Given the description of an element on the screen output the (x, y) to click on. 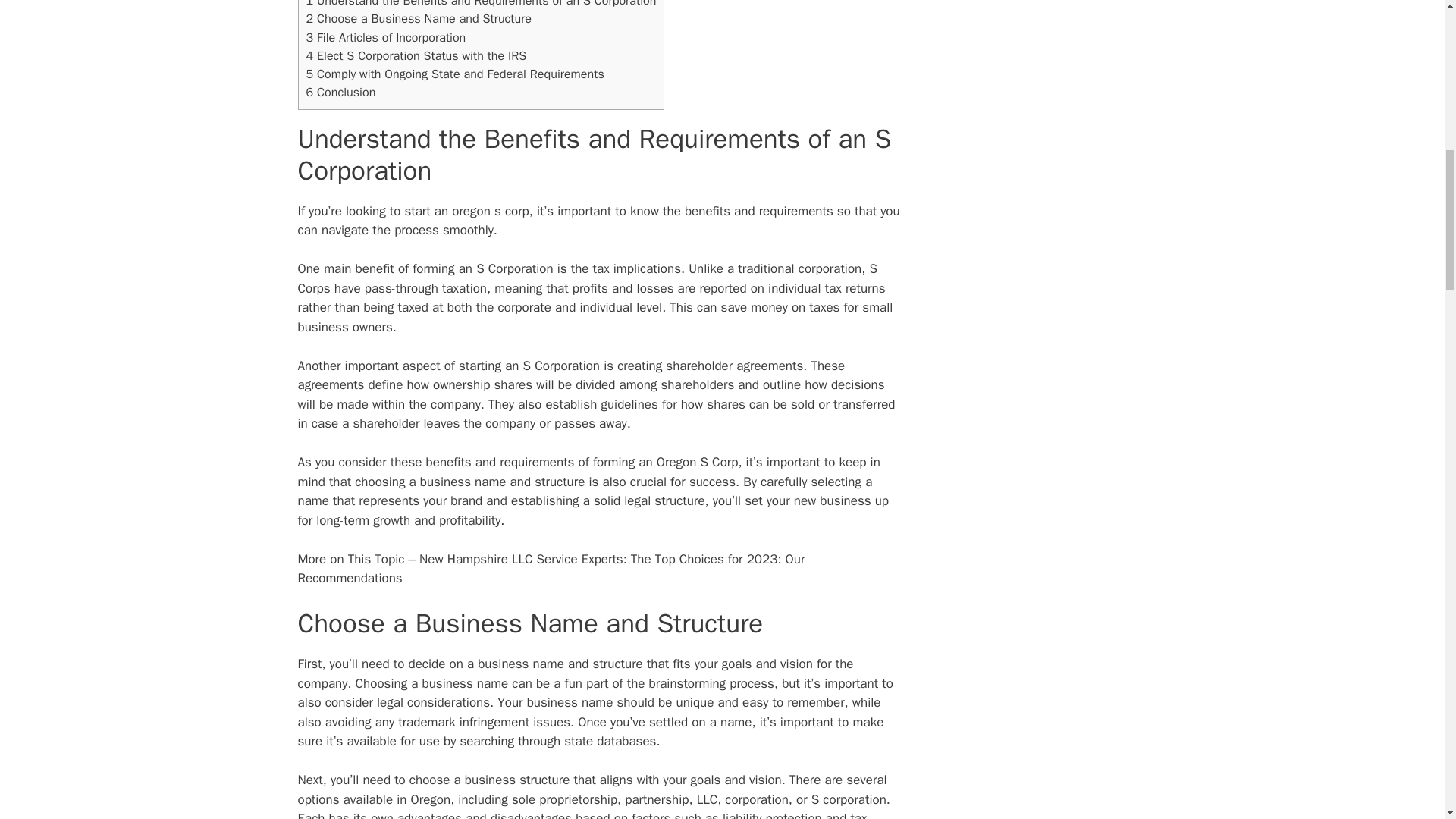
5 Comply with Ongoing State and Federal Requirements (454, 73)
LLC (707, 799)
3 File Articles of Incorporation (385, 37)
6 Conclusion (340, 91)
Scroll back to top (1406, 720)
trademark (425, 722)
4 Elect S Corporation Status with the IRS (416, 55)
2 Choose a Business Name and Structure (418, 18)
